Given the description of an element on the screen output the (x, y) to click on. 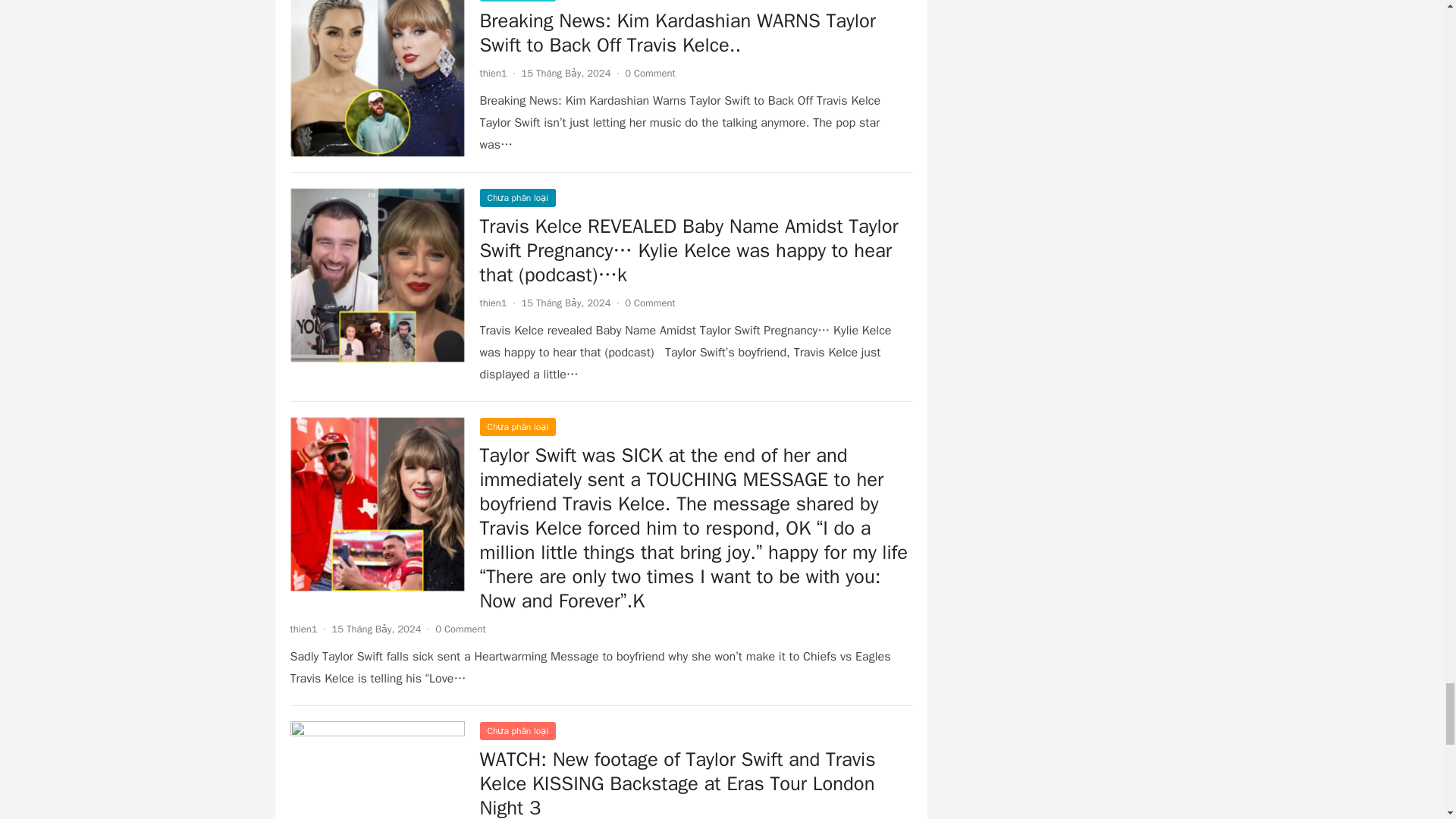
0 Comment (649, 302)
thien1 (492, 302)
0 Comment (459, 628)
0 Comment (649, 72)
thien1 (492, 72)
thien1 (303, 628)
